Given the description of an element on the screen output the (x, y) to click on. 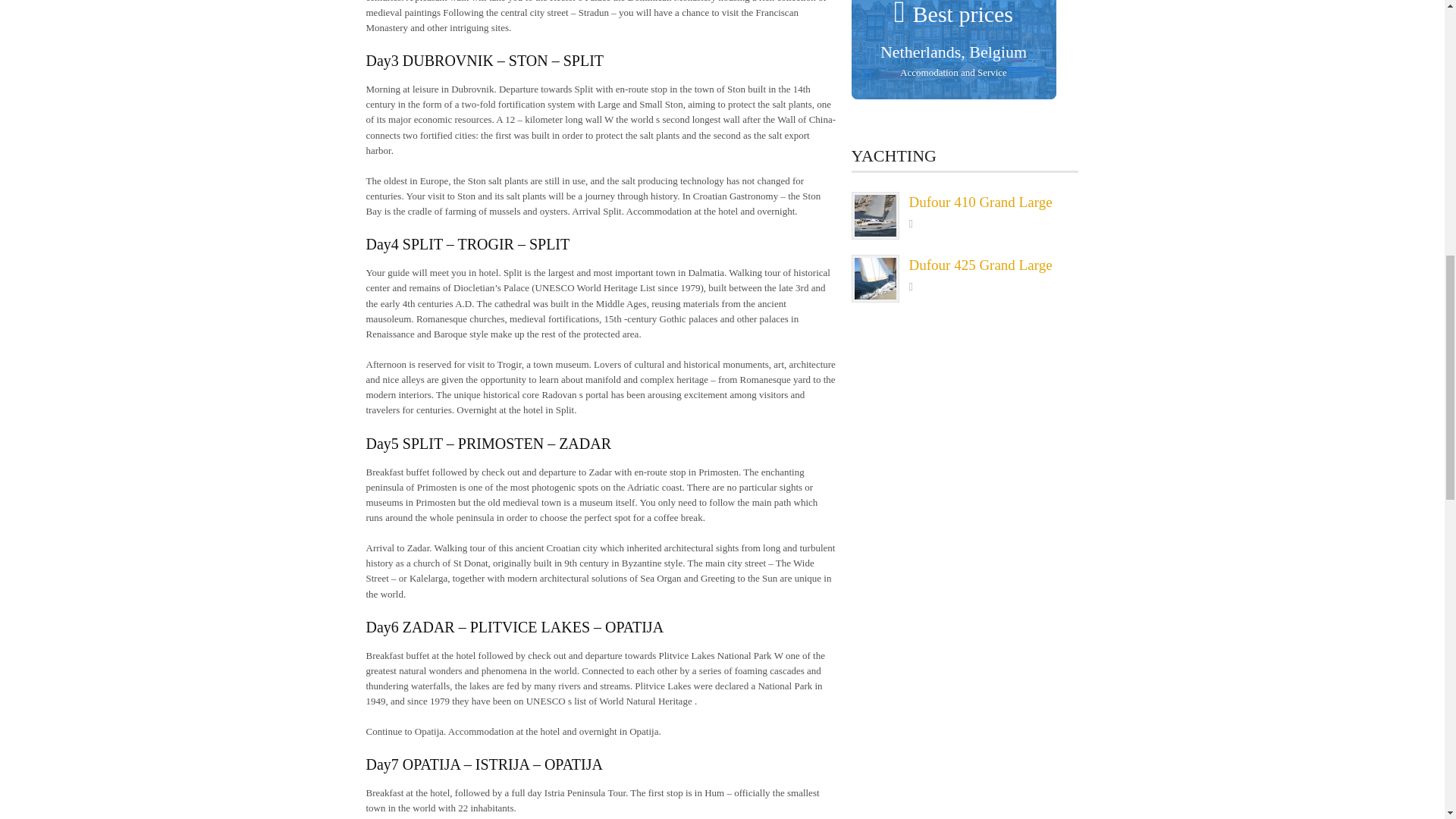
Dufour 425 Grand Large (979, 264)
Dufour 410 Grand Large (979, 201)
